Given the description of an element on the screen output the (x, y) to click on. 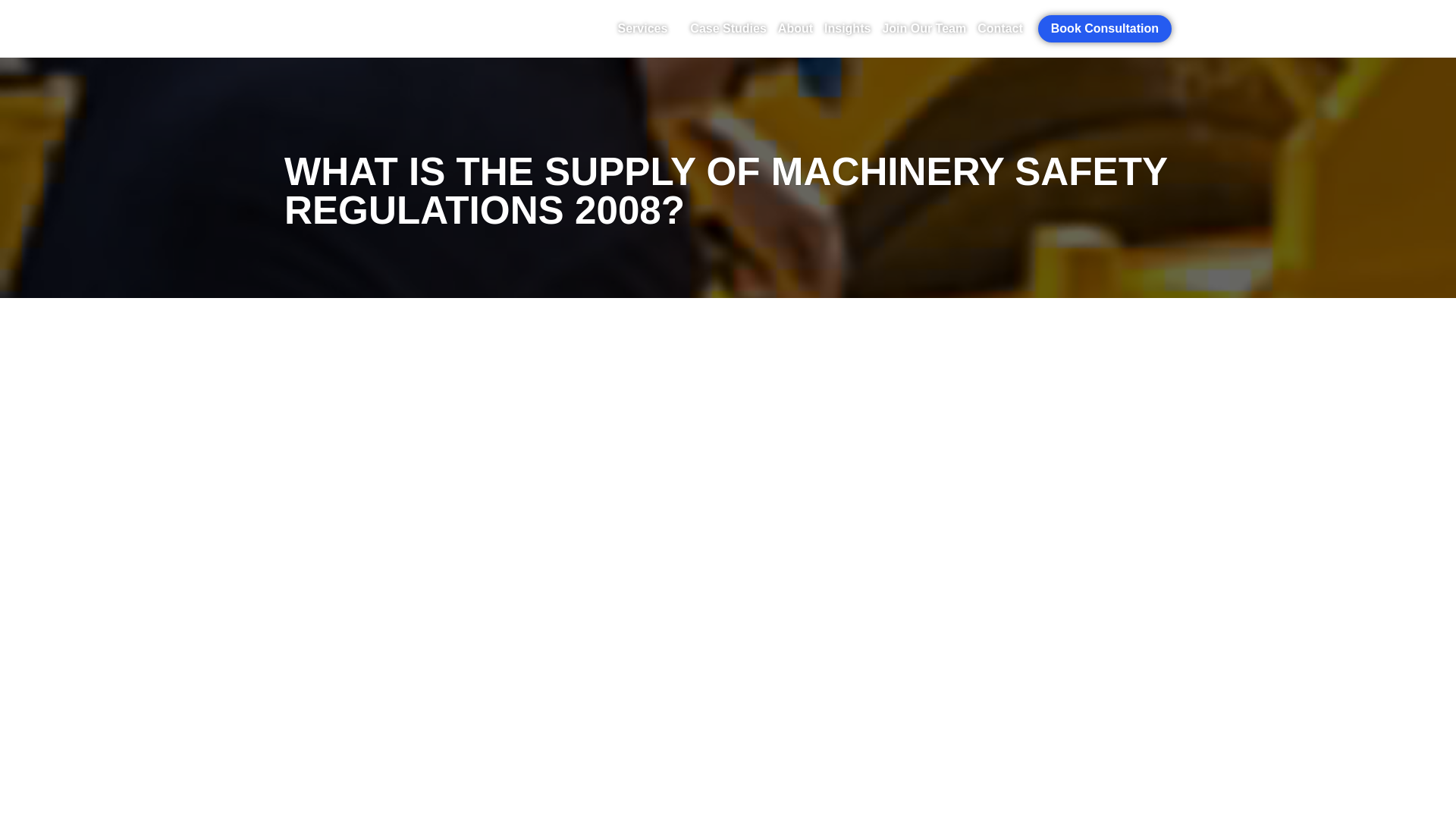
Services (647, 28)
Contact (999, 28)
Book Consultation (1105, 28)
About (794, 28)
Join Our Team (924, 28)
Case Studies (727, 28)
Insights (847, 28)
